Given the description of an element on the screen output the (x, y) to click on. 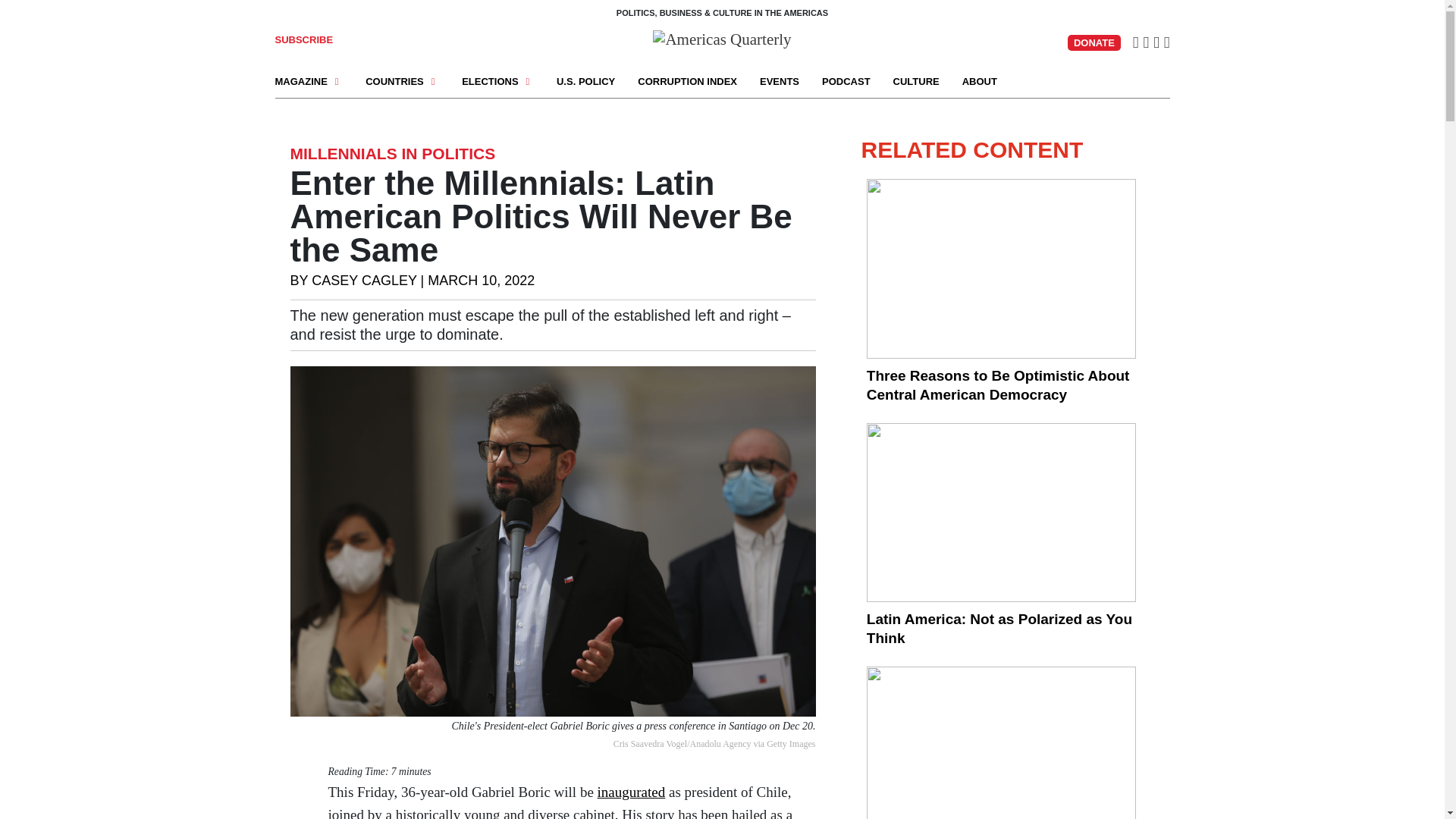
SUBSCRIBE (304, 39)
Americas Quarterly (721, 37)
Americas Quarterly (721, 39)
DONATE (1094, 42)
